Given the description of an element on the screen output the (x, y) to click on. 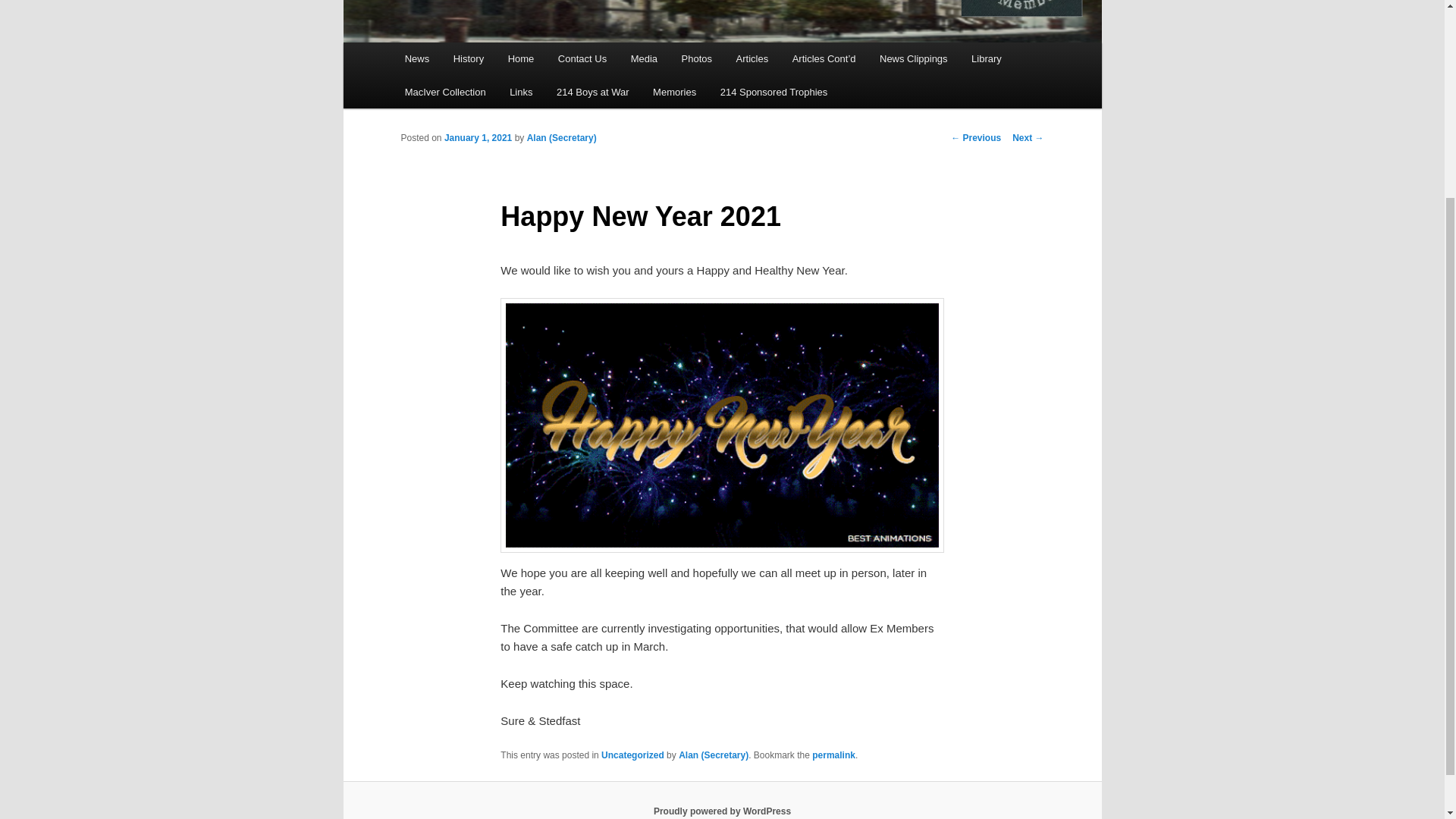
News (417, 58)
Articles (751, 58)
Semantic Personal Publishing Platform (721, 810)
Home (521, 58)
12:12 am (478, 137)
History (468, 58)
Contact Us (582, 58)
Photos (696, 58)
Permalink to Happy New Year 2021 (834, 755)
Media (643, 58)
